Given the description of an element on the screen output the (x, y) to click on. 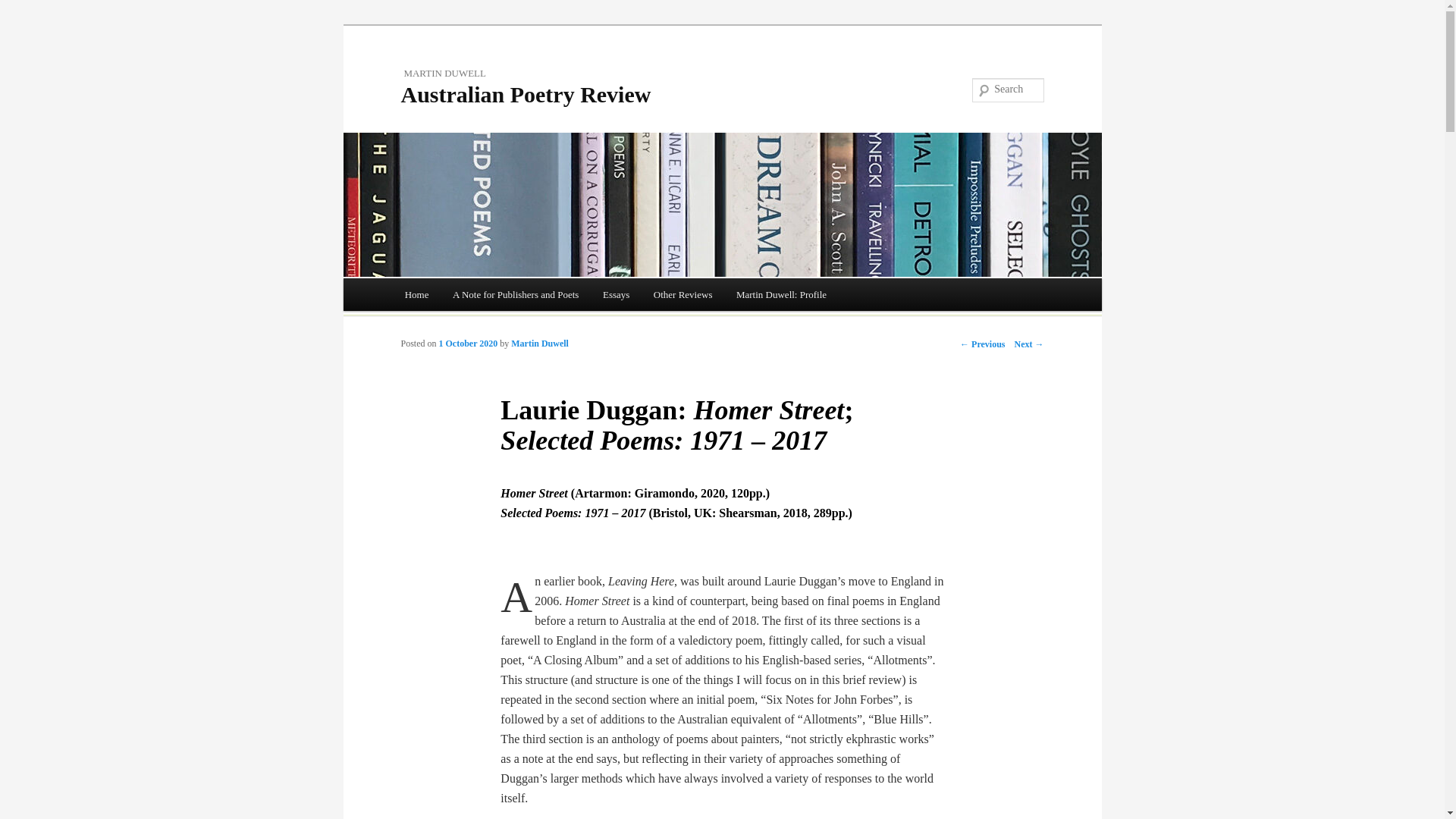
Essays (616, 294)
Search (22, 9)
A list of all reviews, newest listed first. (417, 294)
1 October 2020 (468, 343)
Martin Duwell: Profile (780, 294)
Other Reviews (682, 294)
Martin Duwell (540, 343)
Australian Poetry Review (525, 94)
Australian Poetry Review (525, 94)
Home (417, 294)
View all posts by Martin Duwell (540, 343)
A Note for Publishers and Poets (516, 294)
